Given the description of an element on the screen output the (x, y) to click on. 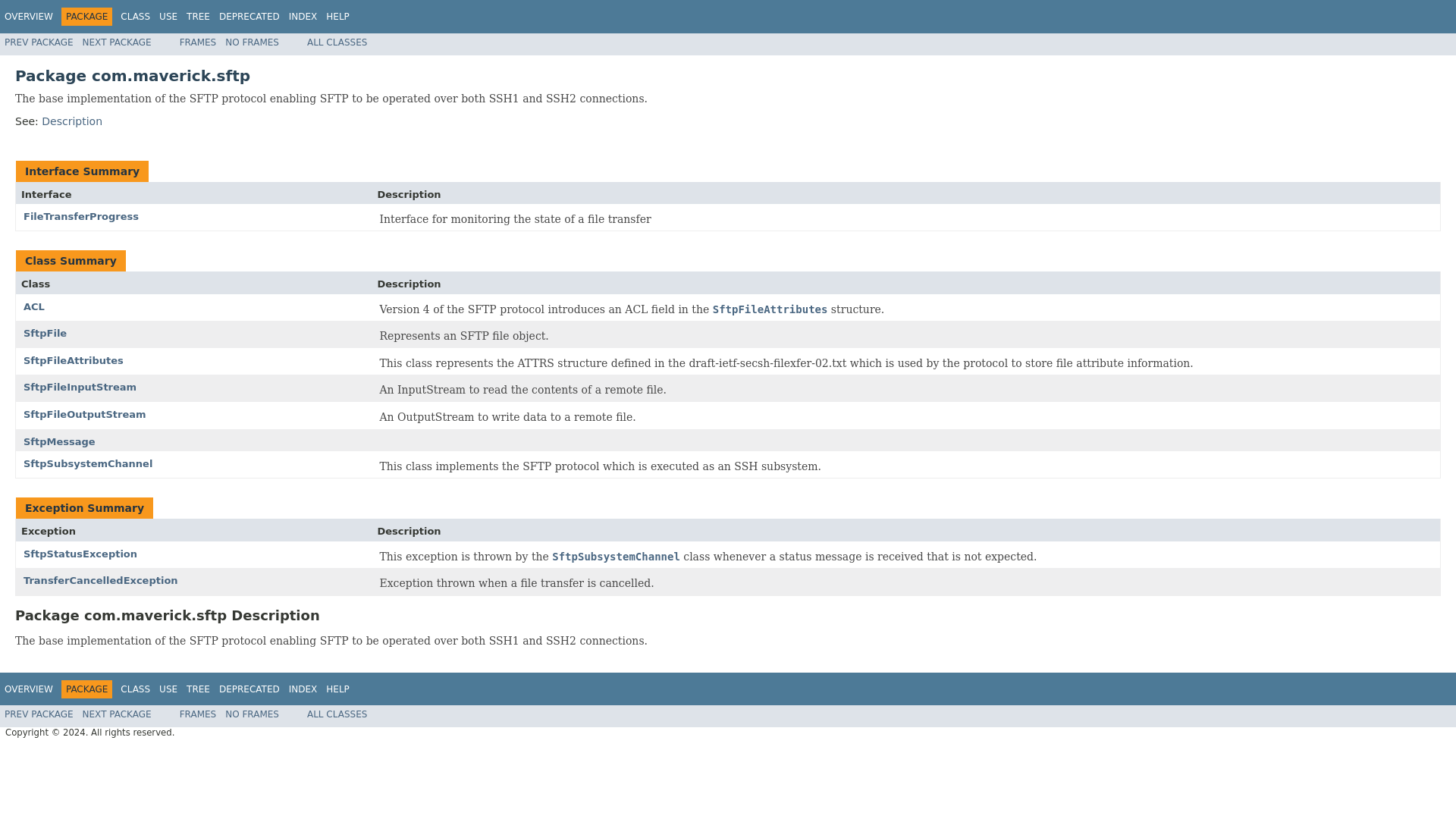
Navigation (176, 689)
HELP (337, 688)
class in com.maverick.sftp (79, 387)
DEPRECATED (249, 688)
TREE (197, 688)
USE (167, 688)
NEXT PACKAGE (116, 714)
SftpSubsystemChannel (615, 557)
ACL (34, 306)
